Given the description of an element on the screen output the (x, y) to click on. 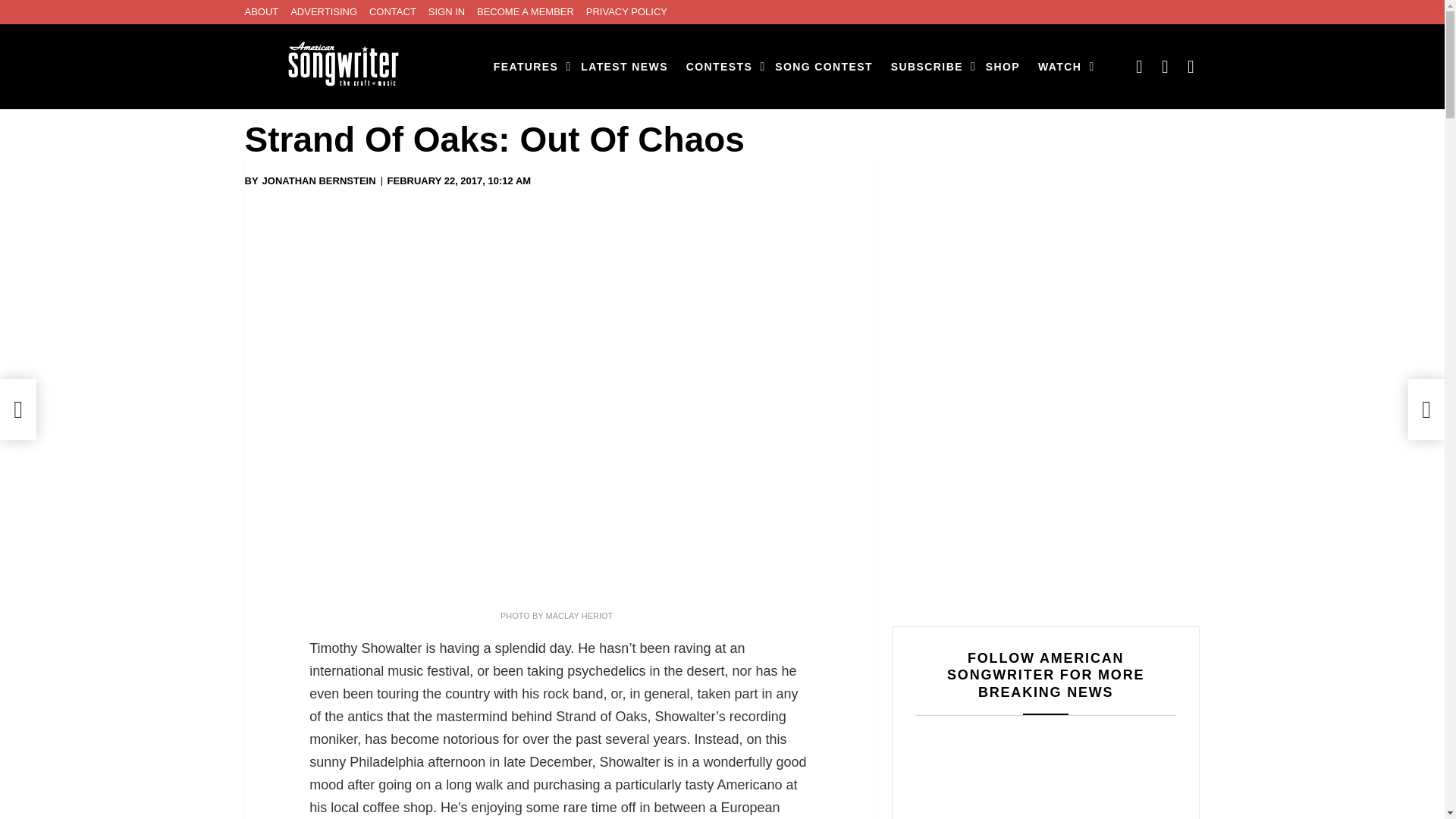
CONTACT (392, 12)
LATEST NEWS (624, 66)
SIGN IN (446, 12)
FEATURES (528, 66)
PRIVACY POLICY (626, 12)
BECOME A MEMBER (525, 12)
CONTESTS (721, 66)
ABOUT (261, 12)
ADVERTISING (322, 12)
Posts by Jonathan Bernstein (318, 181)
